Given the description of an element on the screen output the (x, y) to click on. 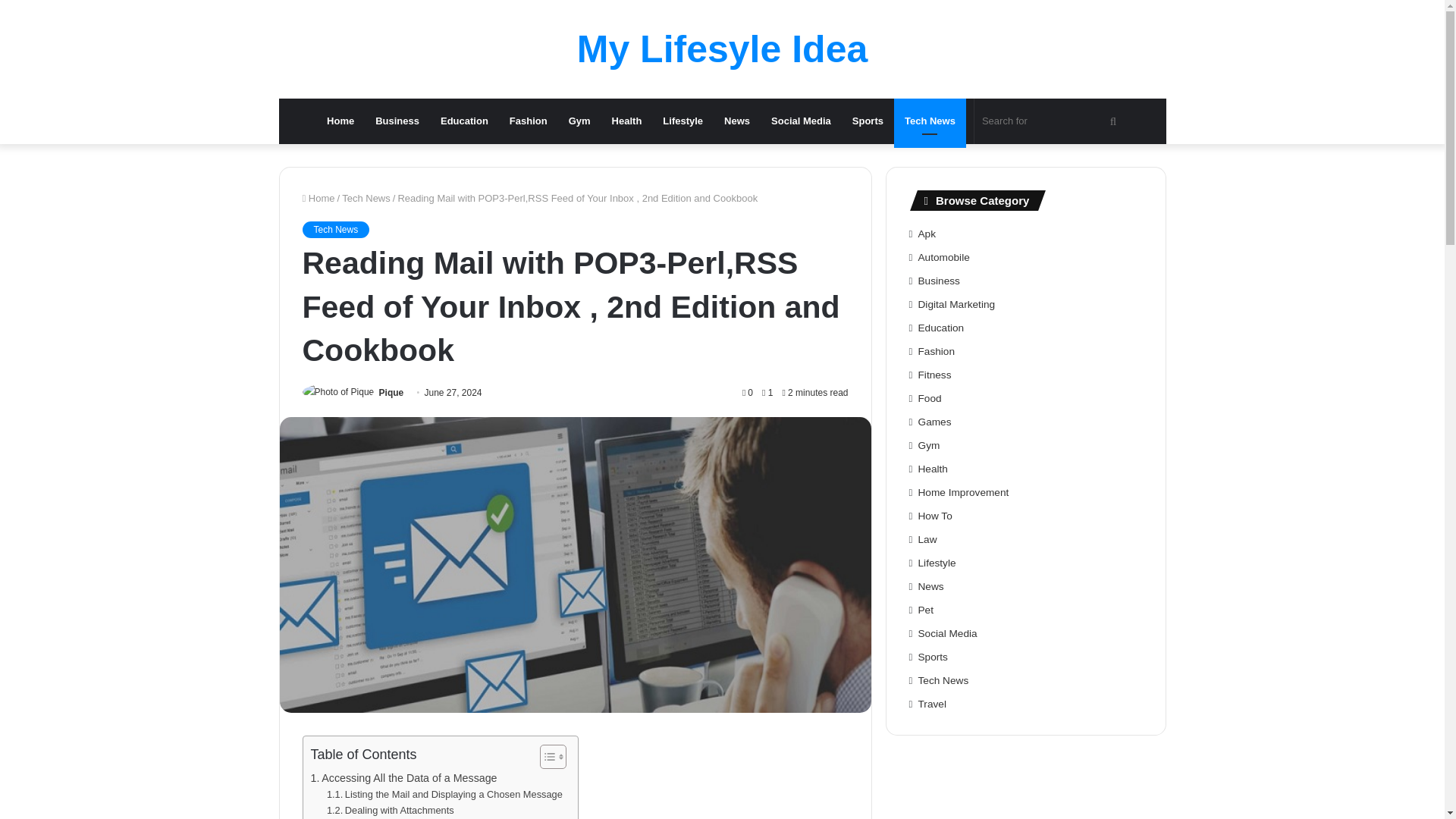
Home (340, 121)
Accessing All the Data of a Message (404, 778)
Business (397, 121)
Search for (1051, 121)
Gym (579, 121)
Listing the Mail and Displaying a Chosen Message (444, 795)
Listing the Mail and Displaying a Chosen Message (444, 795)
Dealing with Attachments (390, 811)
Dealing with Attachments (390, 811)
